Given the description of an element on the screen output the (x, y) to click on. 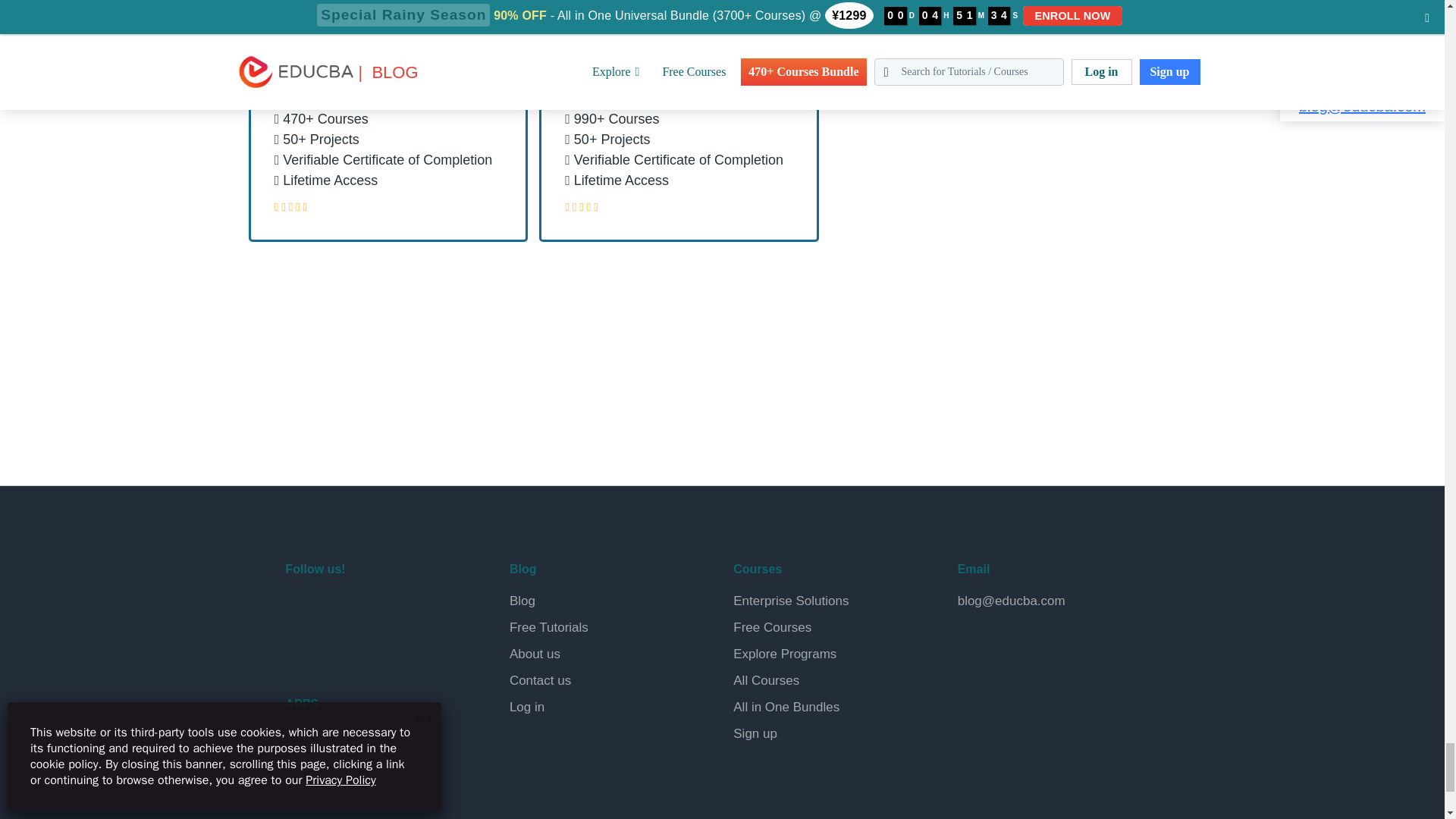
EDUCBA Instagram (408, 609)
EDUCBA Coursera (336, 647)
EDUCBA LinkedIN (371, 609)
EDUCBA Youtube (300, 647)
EDUCBA Facebook (300, 609)
EDUCBA Twitter (336, 609)
